Given the description of an element on the screen output the (x, y) to click on. 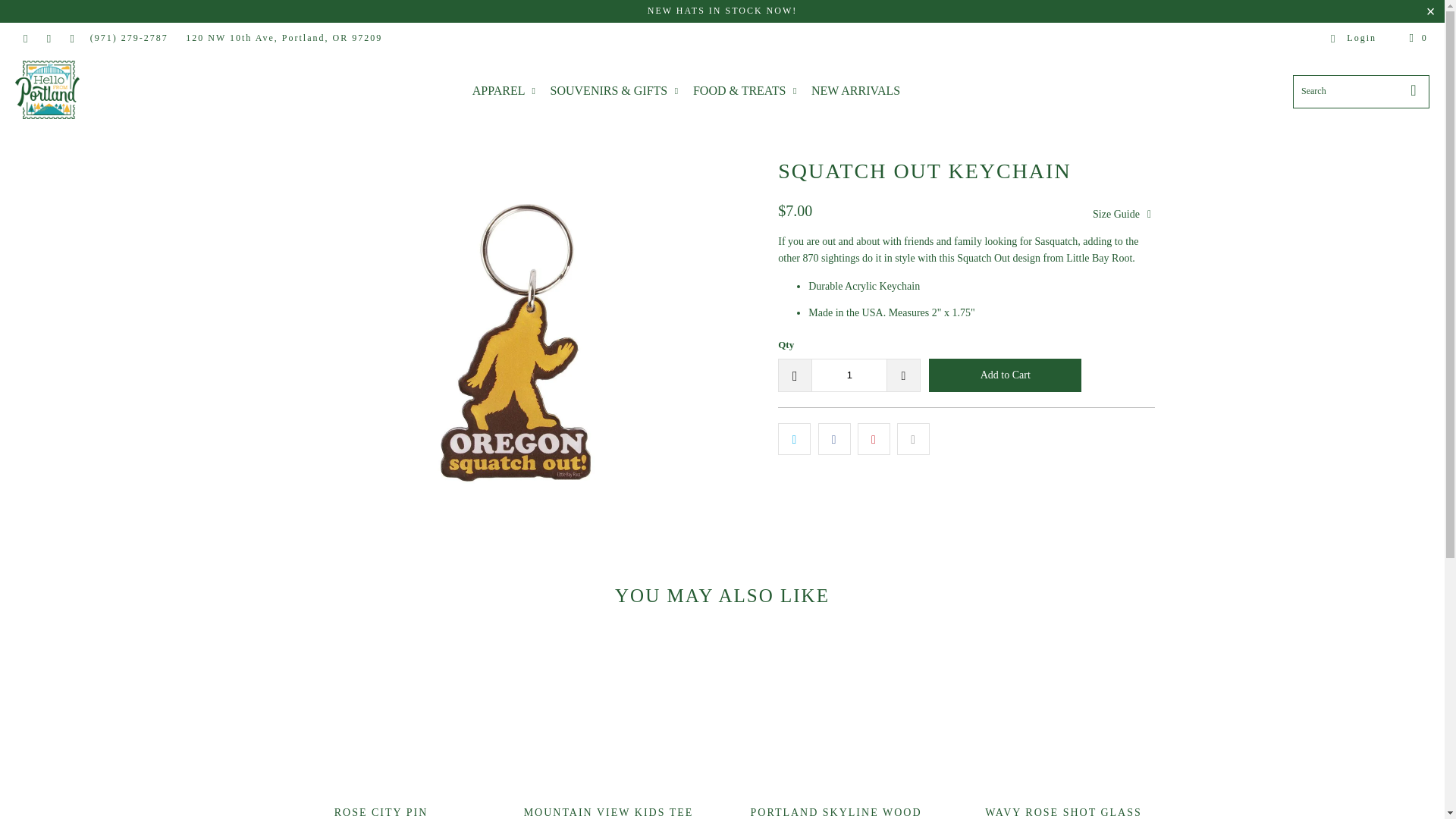
Hello From Portland (47, 91)
Share this on Facebook (834, 439)
Email this to a friend (913, 439)
Share this on Pinterest (873, 439)
My Account  (1353, 37)
1 (848, 375)
Hello From Portland on Instagram (71, 37)
Hello From Portland on Pinterest (48, 37)
Share this on Twitter (793, 439)
Hello From Portland on Facebook (25, 37)
